Given the description of an element on the screen output the (x, y) to click on. 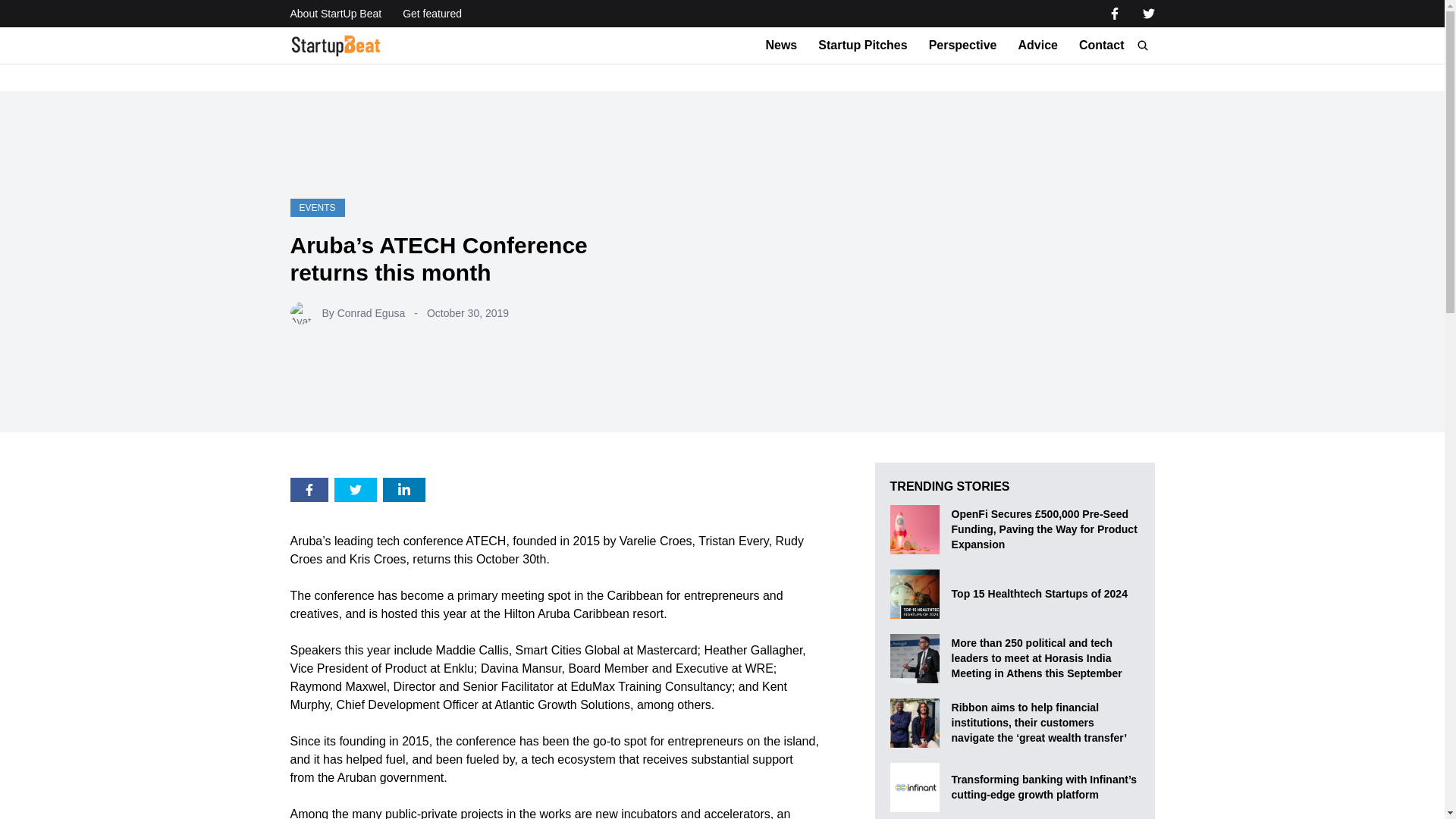
Get featured (432, 13)
About StartUp Beat (335, 13)
Startup Pitches (862, 45)
Advice (1037, 45)
Perspective (962, 45)
Top 15 Healthtech Startups of 2024 (1039, 593)
EVENTS (316, 208)
By Conrad Egusa (362, 313)
Contact (1101, 45)
News (780, 45)
